Given the description of an element on the screen output the (x, y) to click on. 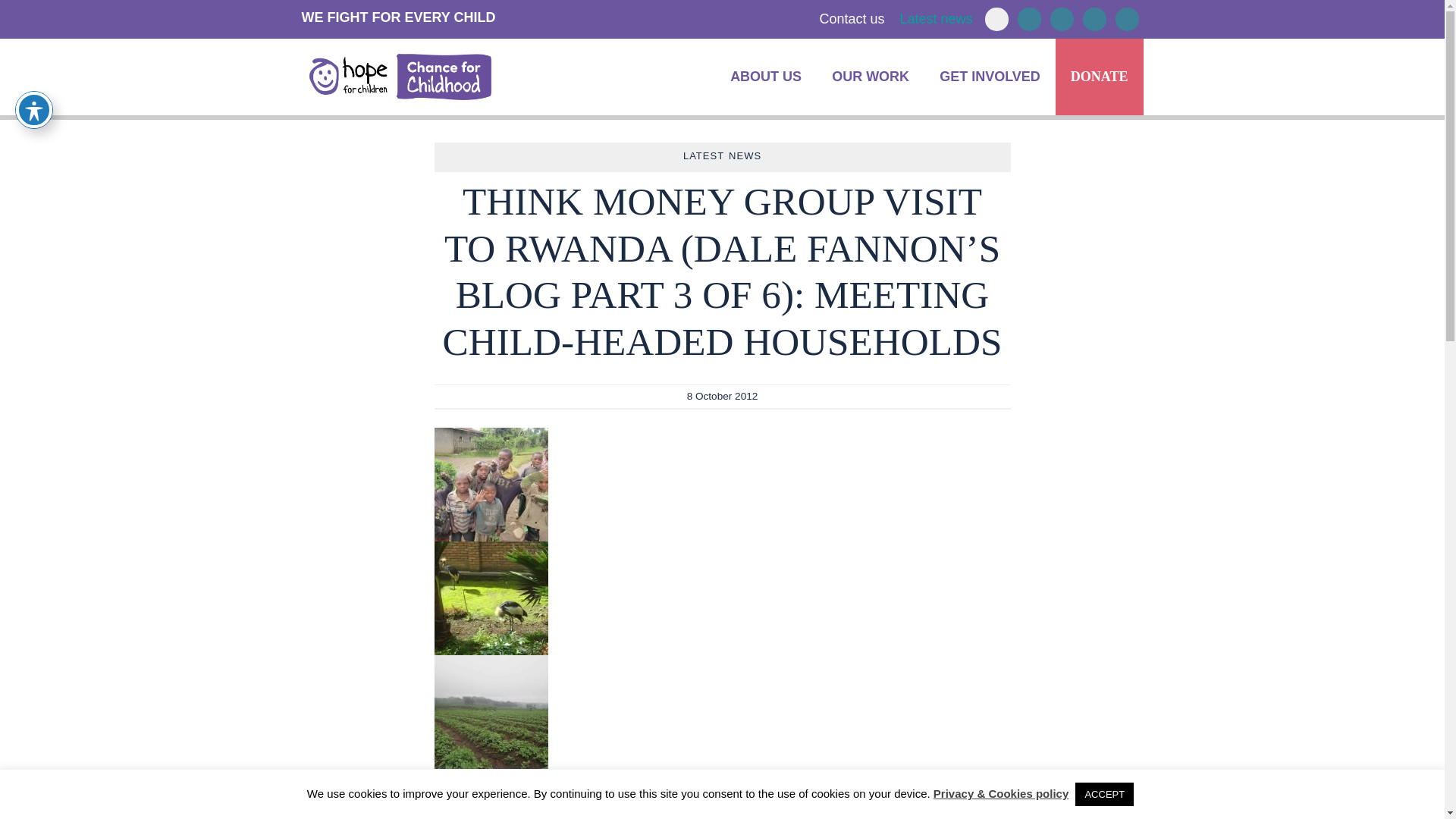
ABOUT US (765, 76)
OUR WORK (870, 76)
Latest news (935, 18)
Chance for Childhood (396, 76)
DONATE (1098, 76)
Contact us (850, 18)
GET INVOLVED (989, 76)
